Given the description of an element on the screen output the (x, y) to click on. 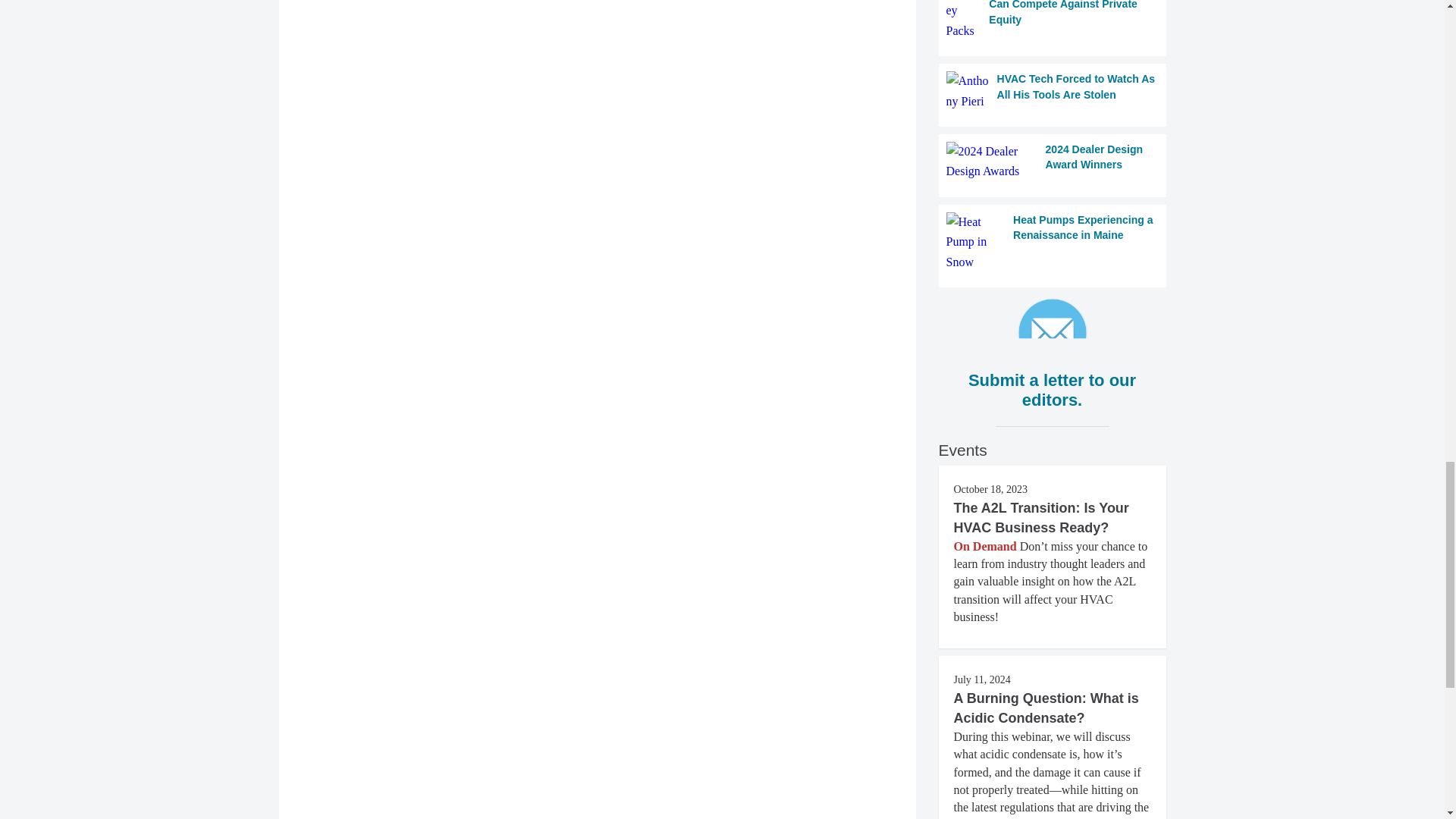
HVAC Tech Forced to Watch As All His Tools Are Stolen (1052, 91)
A Burning Question: What is Acidic Condensate? (1045, 708)
2024 Dealer Design Award Winners (1052, 161)
The A2L Transition: Is Your HVAC Business Ready? (1041, 517)
Heat Pumps Experiencing a Renaissance in Maine (1052, 241)
